Given the description of an element on the screen output the (x, y) to click on. 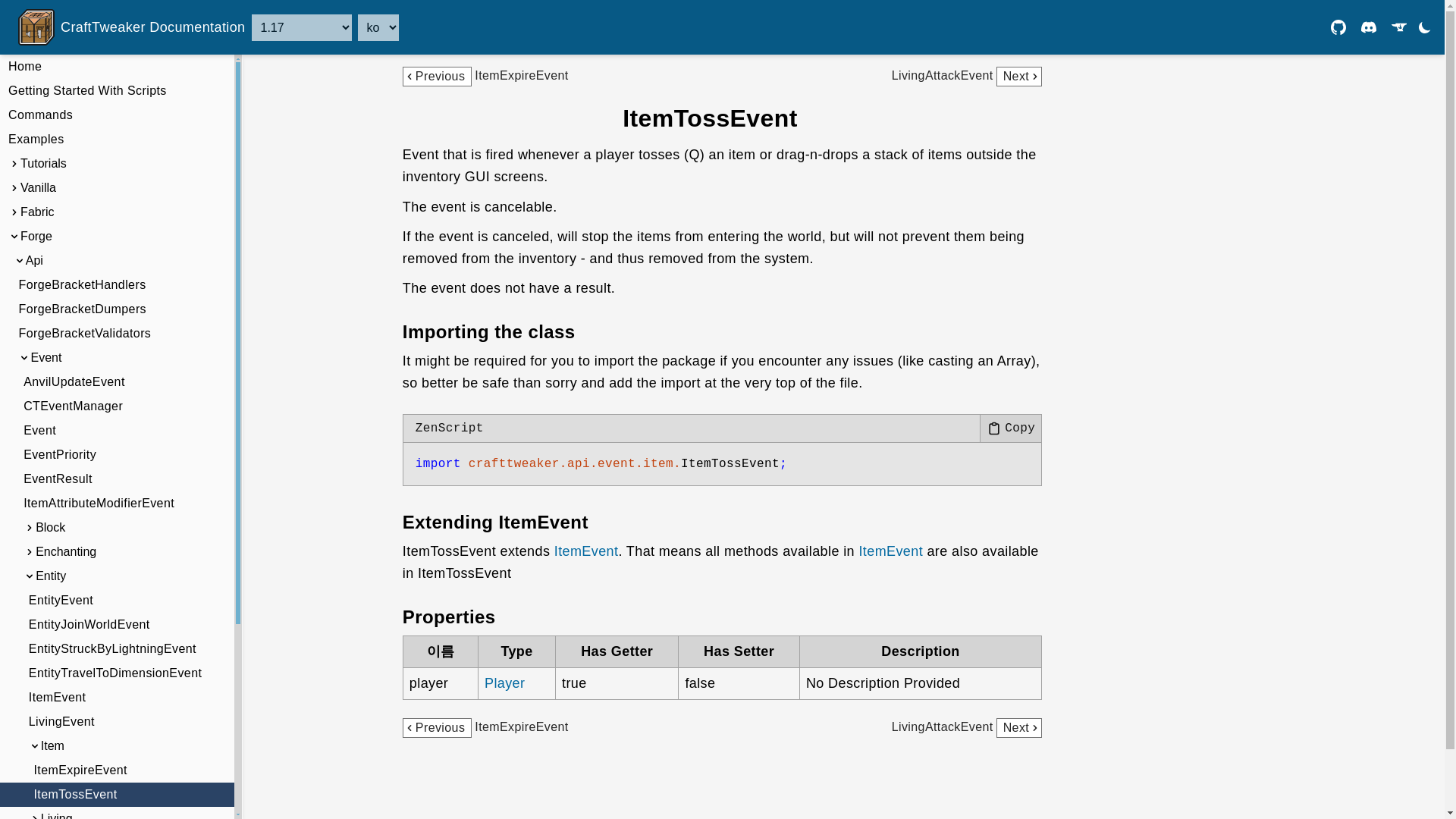
CTEventManager (117, 405)
Properties (449, 617)
AnvilUpdateEvent (117, 381)
Enchanting (117, 551)
ItemTossEvent (117, 794)
Github (1338, 27)
ItemEvent (117, 697)
EntityTravelToDimensionEvent (117, 672)
Fabric (117, 211)
EntityStruckByLightningEvent (117, 648)
Discord (1368, 27)
CraftTweaker Documentation (131, 27)
Event (117, 430)
ForgeBracketHandlers (117, 284)
Importing the class (489, 331)
